Given the description of an element on the screen output the (x, y) to click on. 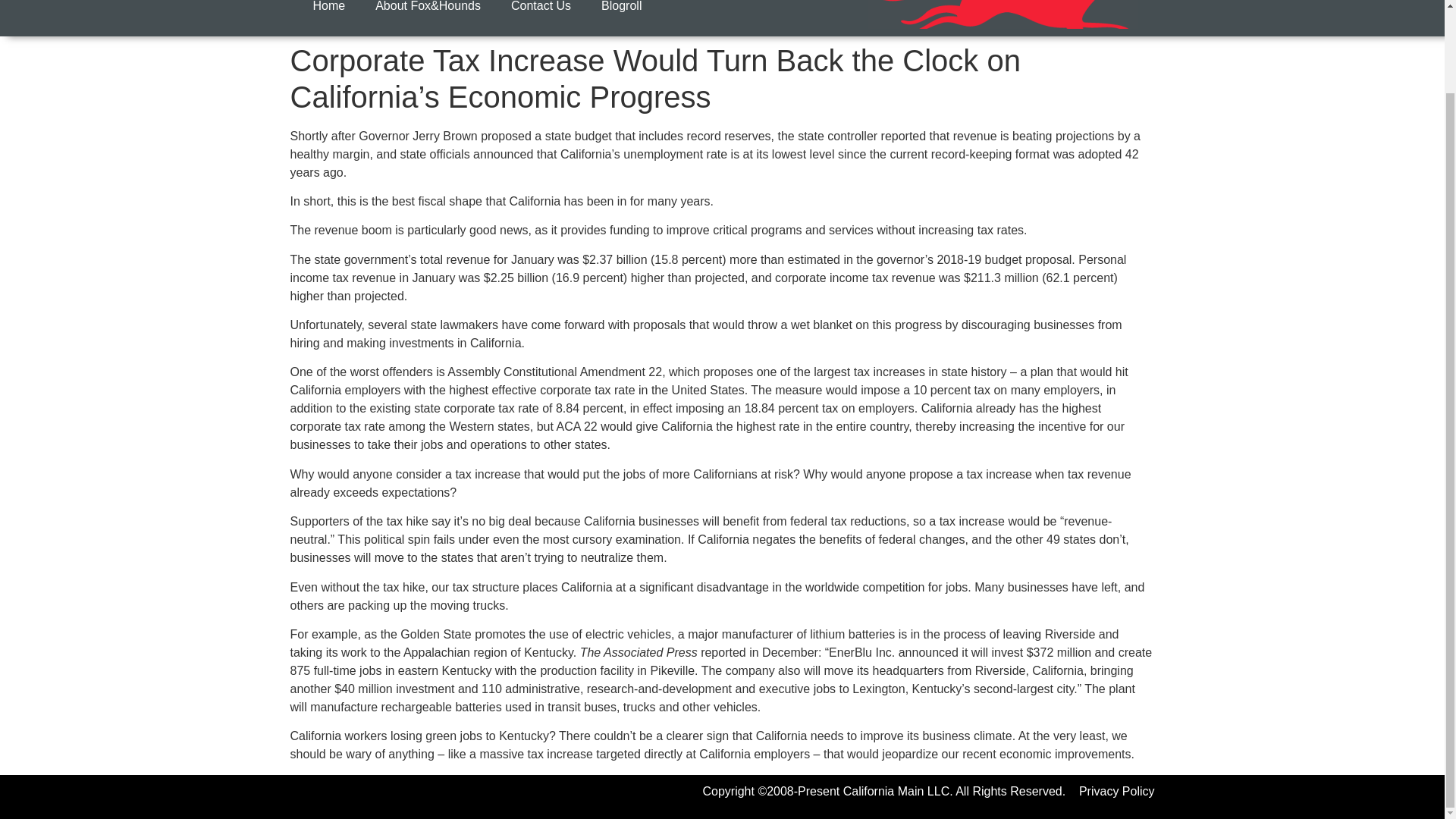
Blogroll (621, 11)
Privacy Policy (1116, 790)
Contact Us (541, 11)
Home (328, 11)
